Given the description of an element on the screen output the (x, y) to click on. 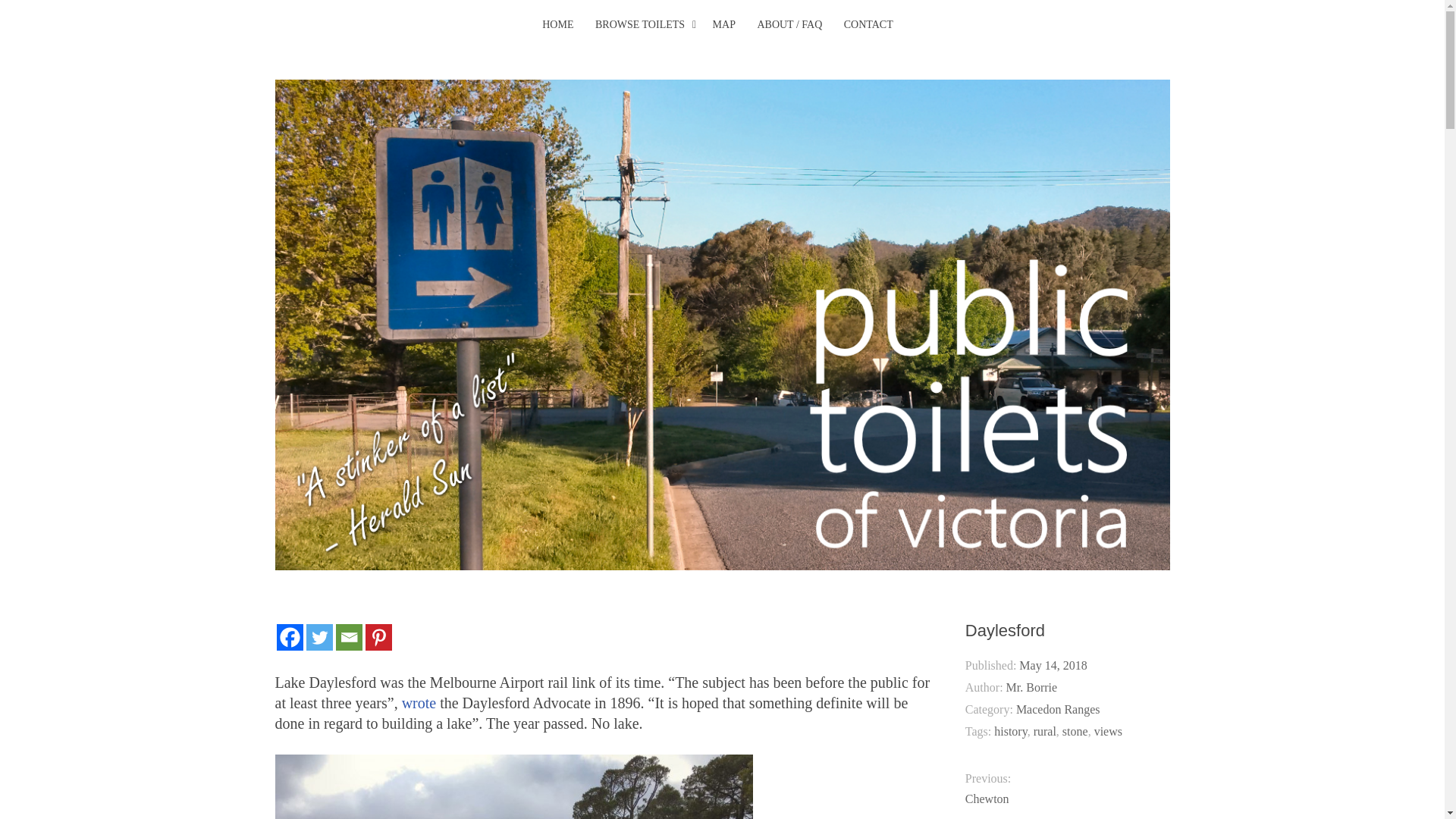
Twitter (319, 637)
MAP (724, 25)
Email (347, 637)
Facebook (289, 637)
Pinterest (378, 637)
HOME (557, 25)
BROWSE TOILETS (639, 25)
wrote (418, 702)
CONTACT (868, 25)
